Given the description of an element on the screen output the (x, y) to click on. 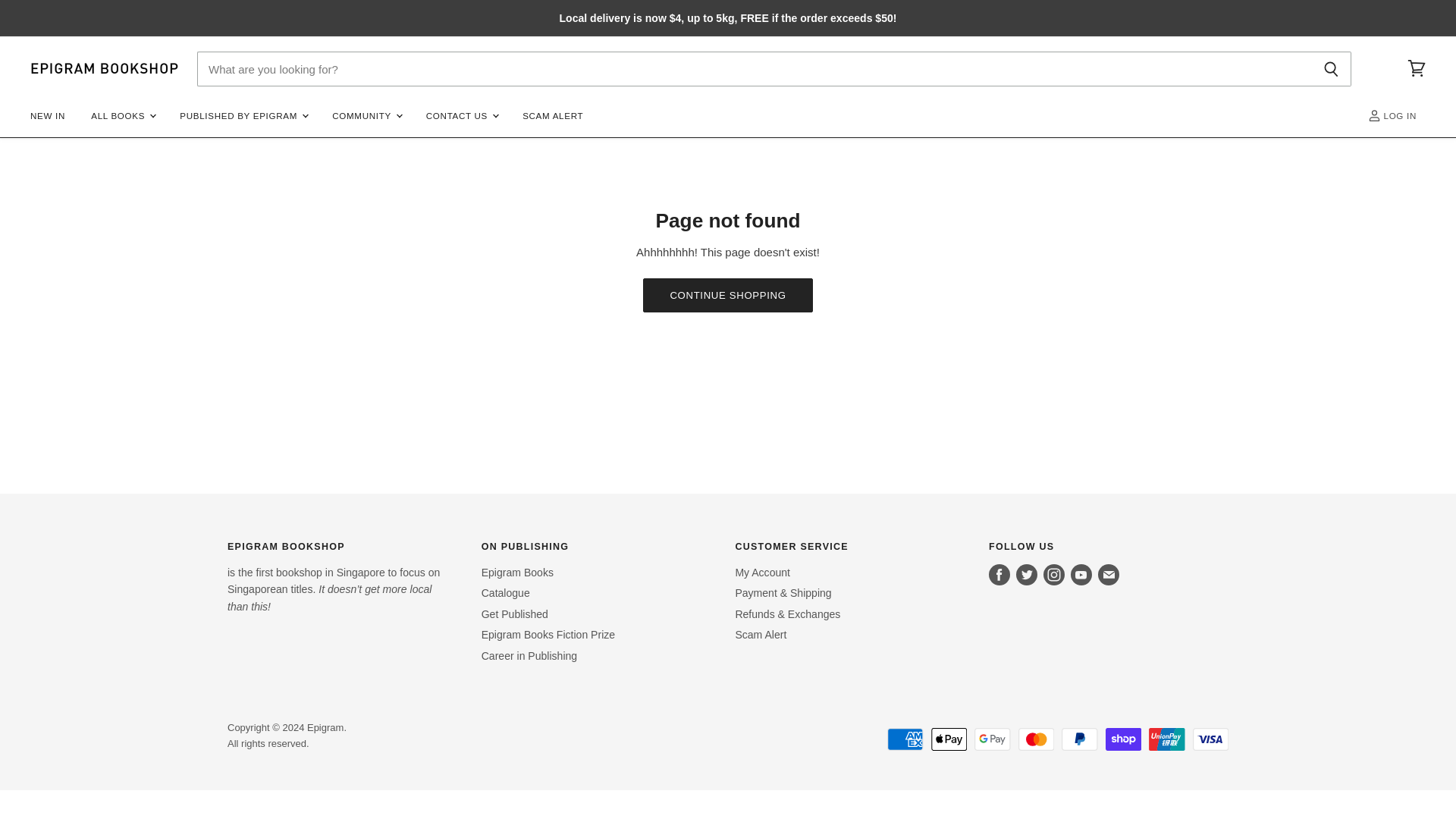
ALL BOOKS (122, 115)
NEW IN (47, 115)
Youtube (1080, 574)
View cart (1415, 68)
Instagram (1054, 574)
E-mail (1108, 574)
Facebook (999, 574)
Twitter (1027, 574)
ACCOUNT ICON (1374, 115)
